Given the description of an element on the screen output the (x, y) to click on. 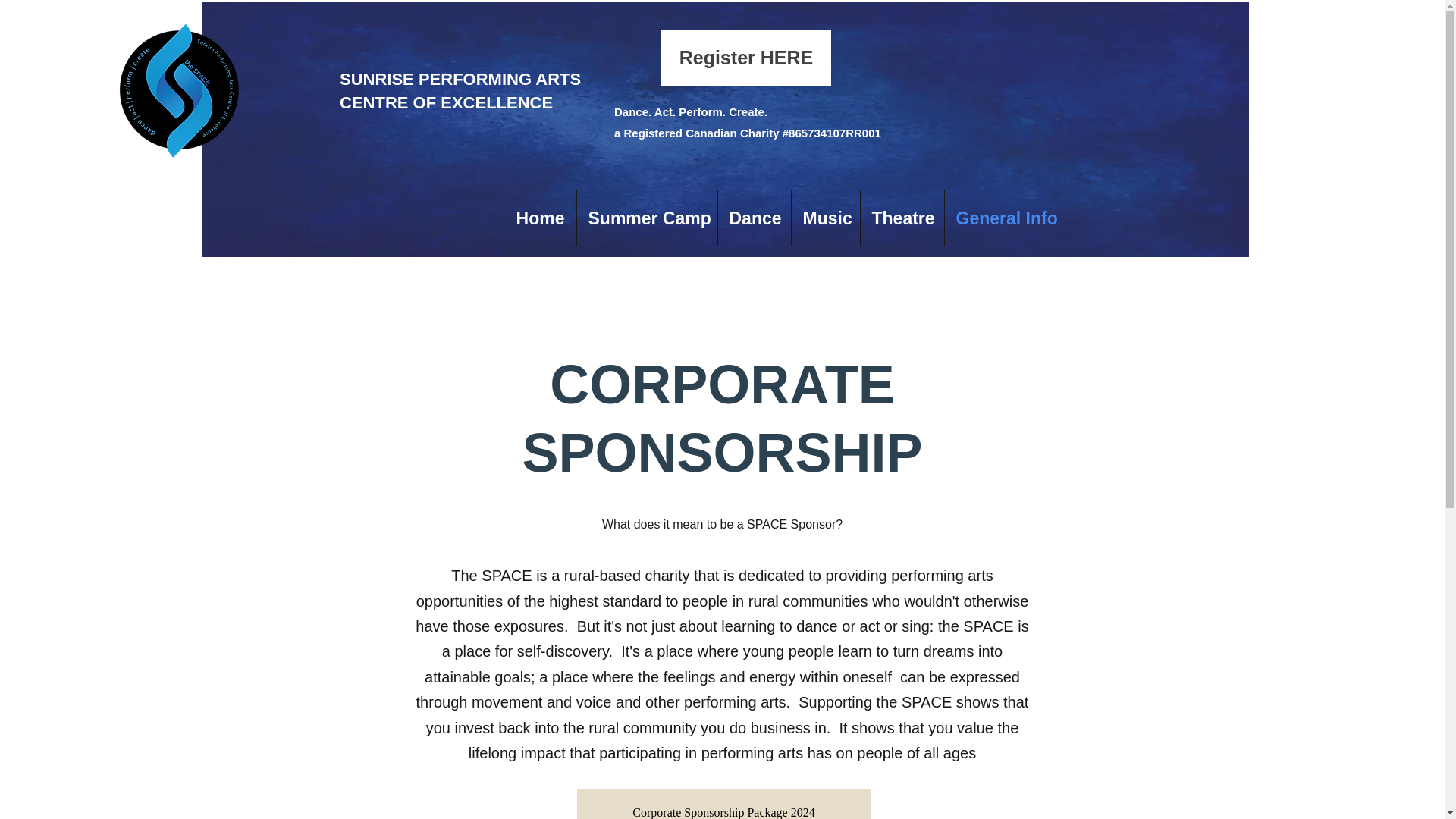
Home (540, 218)
Register HERE (746, 57)
Corporate Sponsorship Package 2024 (723, 804)
Dance (753, 218)
Music (826, 218)
SUNRISE PERFORMING ARTS CENTRE OF EXCELLENCE (459, 90)
Theatre (901, 218)
Summer Camp (646, 218)
General Info (1004, 218)
